Given the description of an element on the screen output the (x, y) to click on. 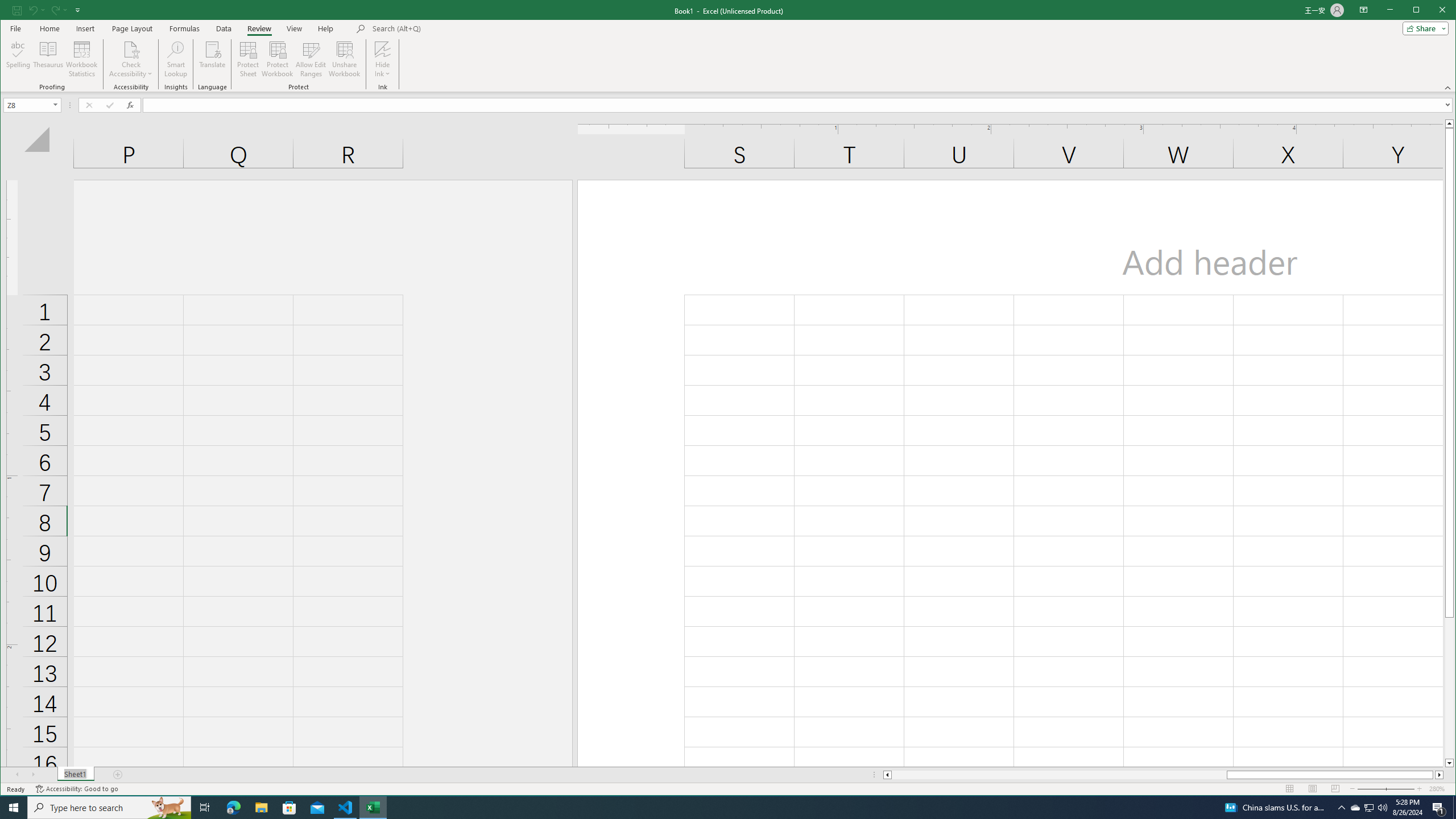
Line down (1449, 763)
Hide Ink (382, 48)
Collapse the Ribbon (1448, 87)
Customize Quick Access Toolbar (77, 9)
File Explorer (261, 807)
Protect Workbook... (277, 59)
Unshare Workbook (344, 59)
Share (1422, 27)
Task View (204, 807)
Zoom (1368, 807)
Review (1384, 788)
Help (259, 28)
Save (325, 28)
Start (16, 9)
